Given the description of an element on the screen output the (x, y) to click on. 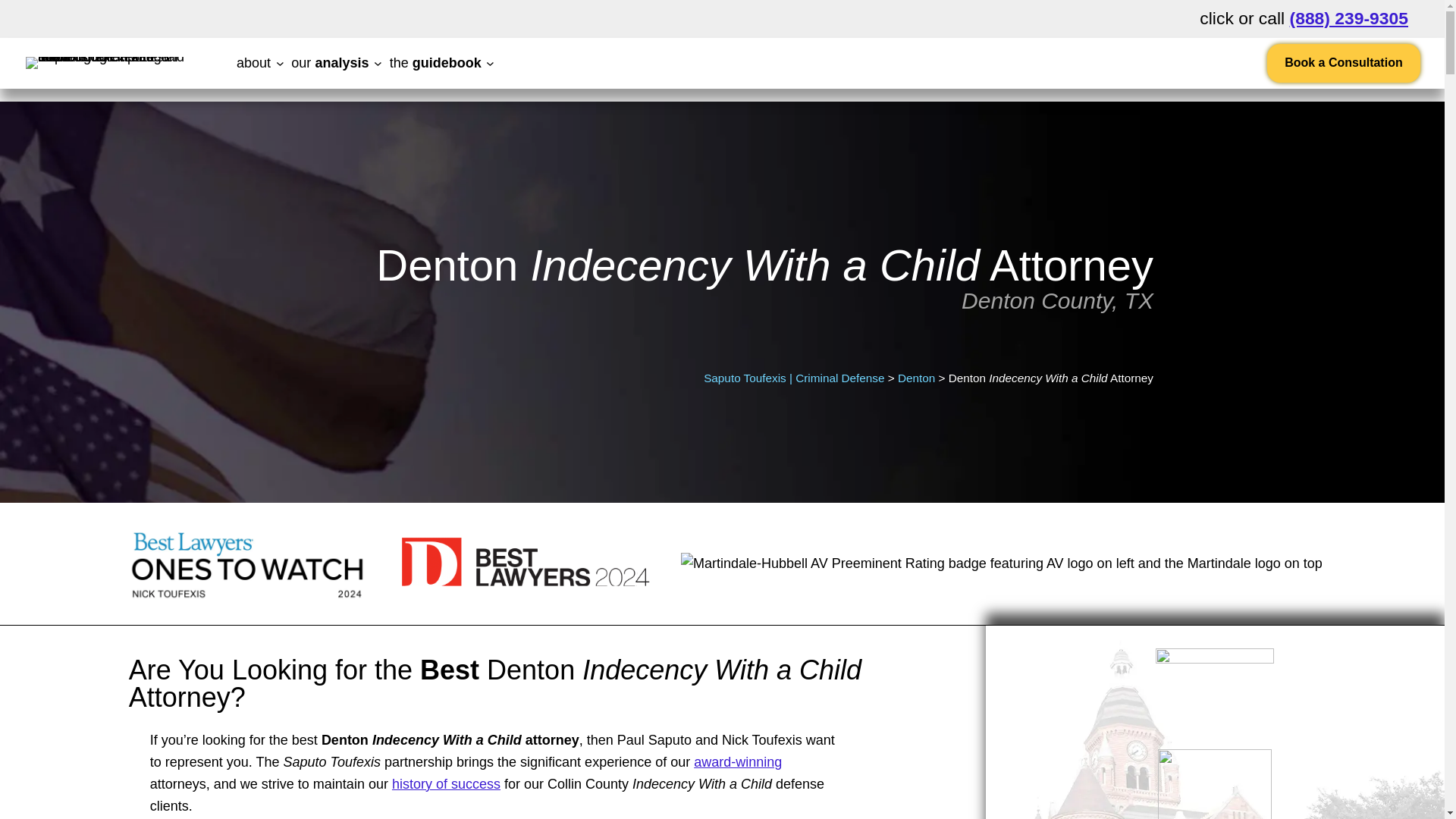
Book a Consultation (1343, 63)
award-winning (737, 761)
our analysis (329, 62)
about (253, 62)
Go to Denton. (916, 377)
the guidebook (435, 62)
Denton (916, 377)
history of success (445, 783)
